Given the description of an element on the screen output the (x, y) to click on. 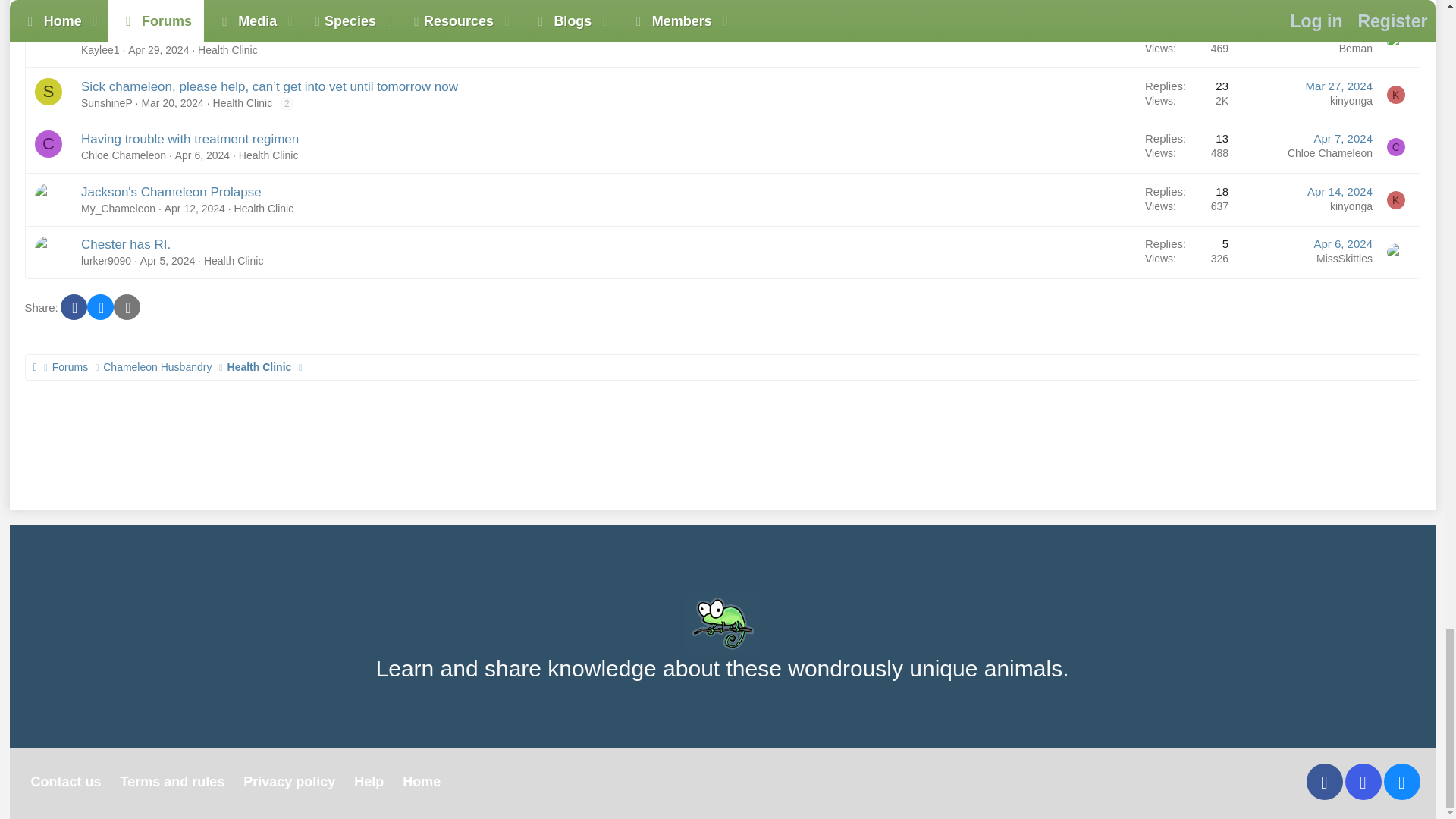
Apr 29, 2024 at 1:04 AM (158, 50)
First message reaction score: 0 (1187, 41)
